Given the description of an element on the screen output the (x, y) to click on. 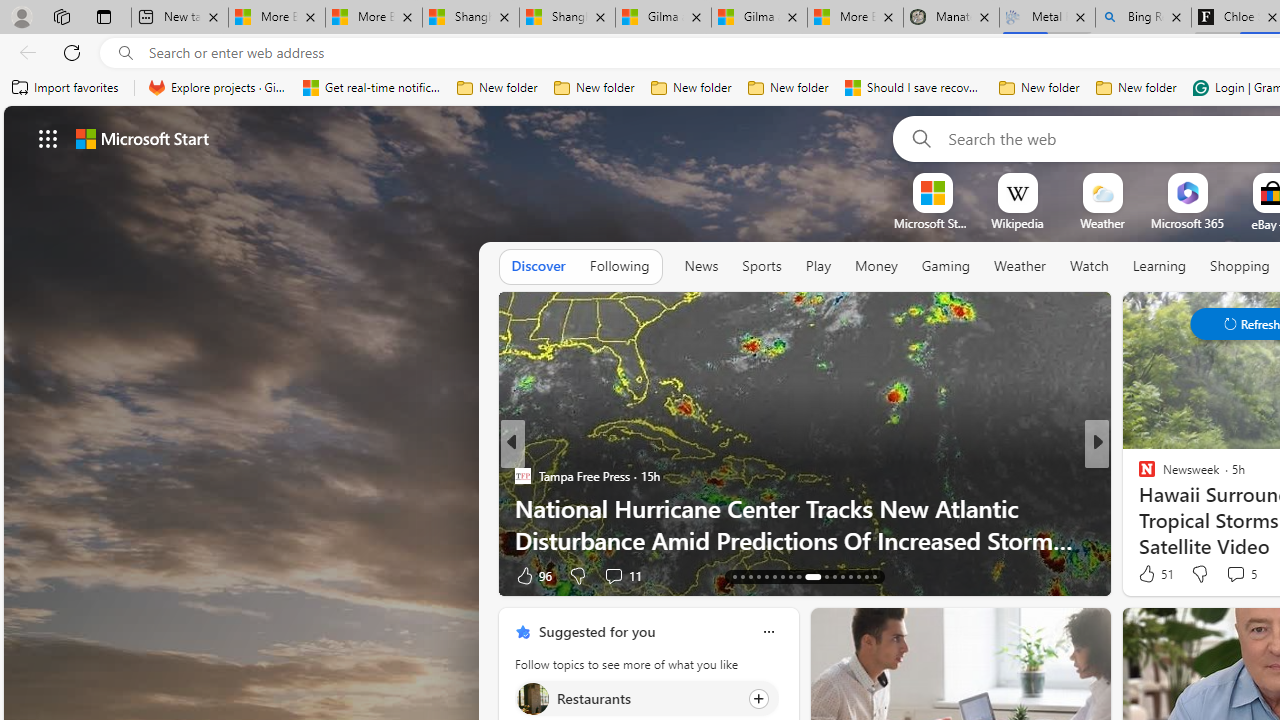
View comments 5 Comment (1234, 573)
New folder (1136, 88)
Daily Caller (1138, 475)
15 Like (1149, 574)
Planning to Organize (1138, 475)
View comments 32 Comment (11, 575)
AutomationID: tab-33 (874, 576)
76 Like (1149, 574)
View comments 35 Comment (11, 575)
AutomationID: tab-25 (797, 576)
You're following Newsweek (445, 579)
